Given the description of an element on the screen output the (x, y) to click on. 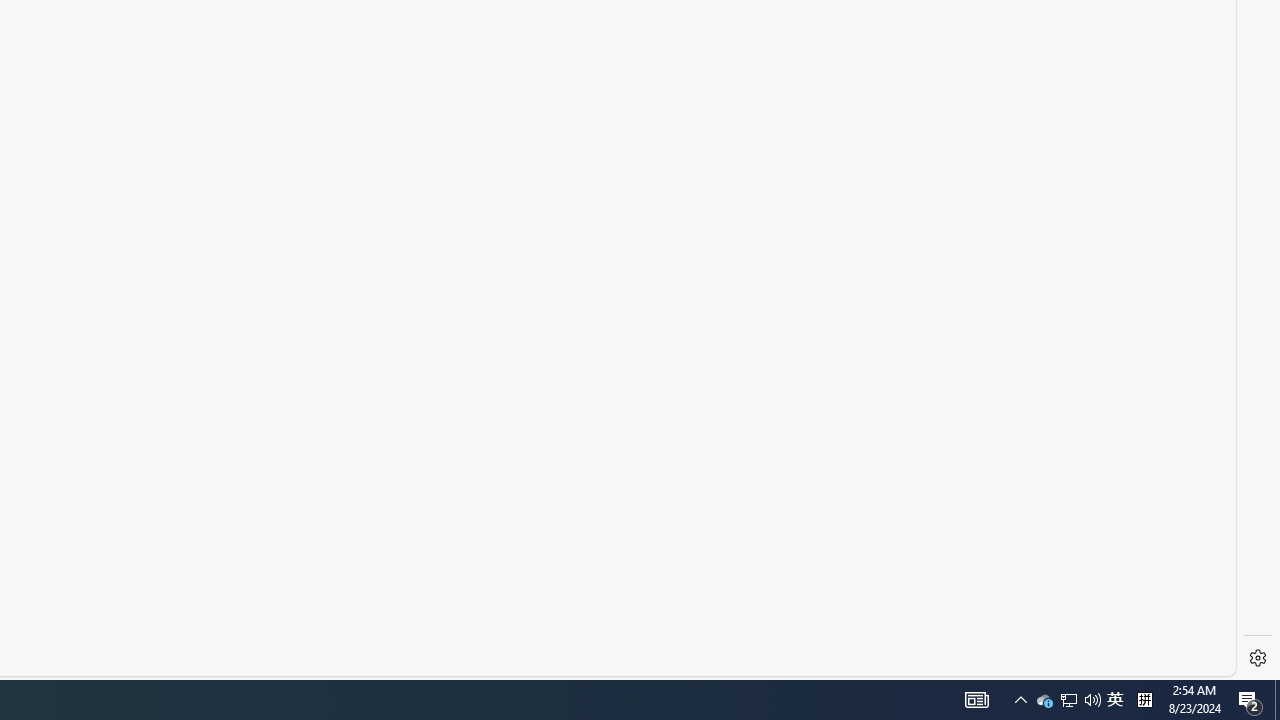
Q2790: 100% (1092, 699)
Tray Input Indicator - Chinese (Simplified, China) (1144, 699)
Action Center, 2 new notifications (1250, 699)
Show desktop (1115, 699)
Notification Chevron (1044, 699)
User Promoted Notification Area (1277, 699)
AutomationID: 4105 (1020, 699)
